Given the description of an element on the screen output the (x, y) to click on. 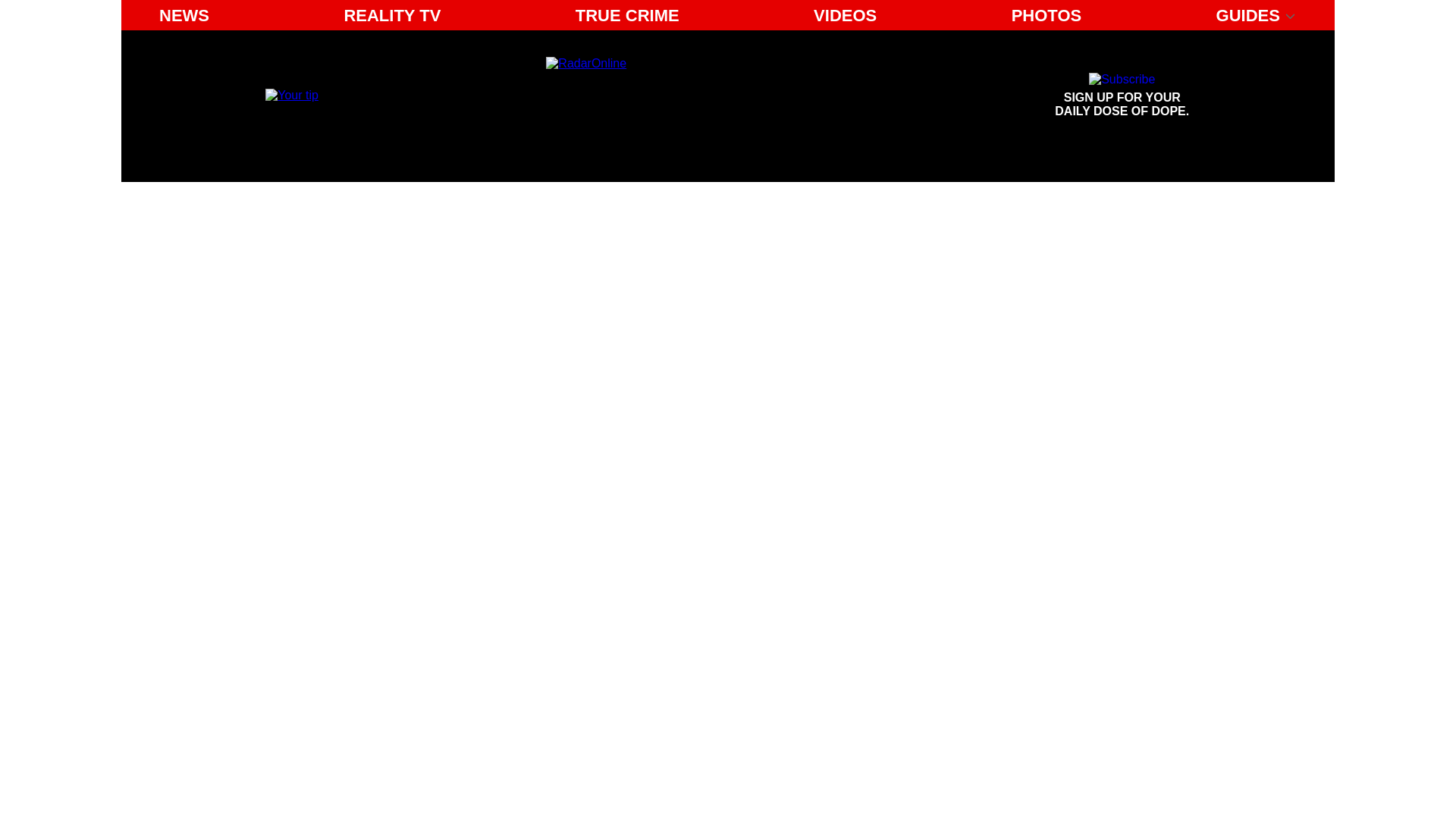
TRUE CRIME (627, 15)
VIDEOS (844, 15)
NEWS (183, 15)
Radar Online (685, 95)
REALITY TV (1122, 94)
Email us your tip (392, 15)
PHOTOS (291, 94)
Sign up for your daily dose of dope. (1046, 15)
